Given the description of an element on the screen output the (x, y) to click on. 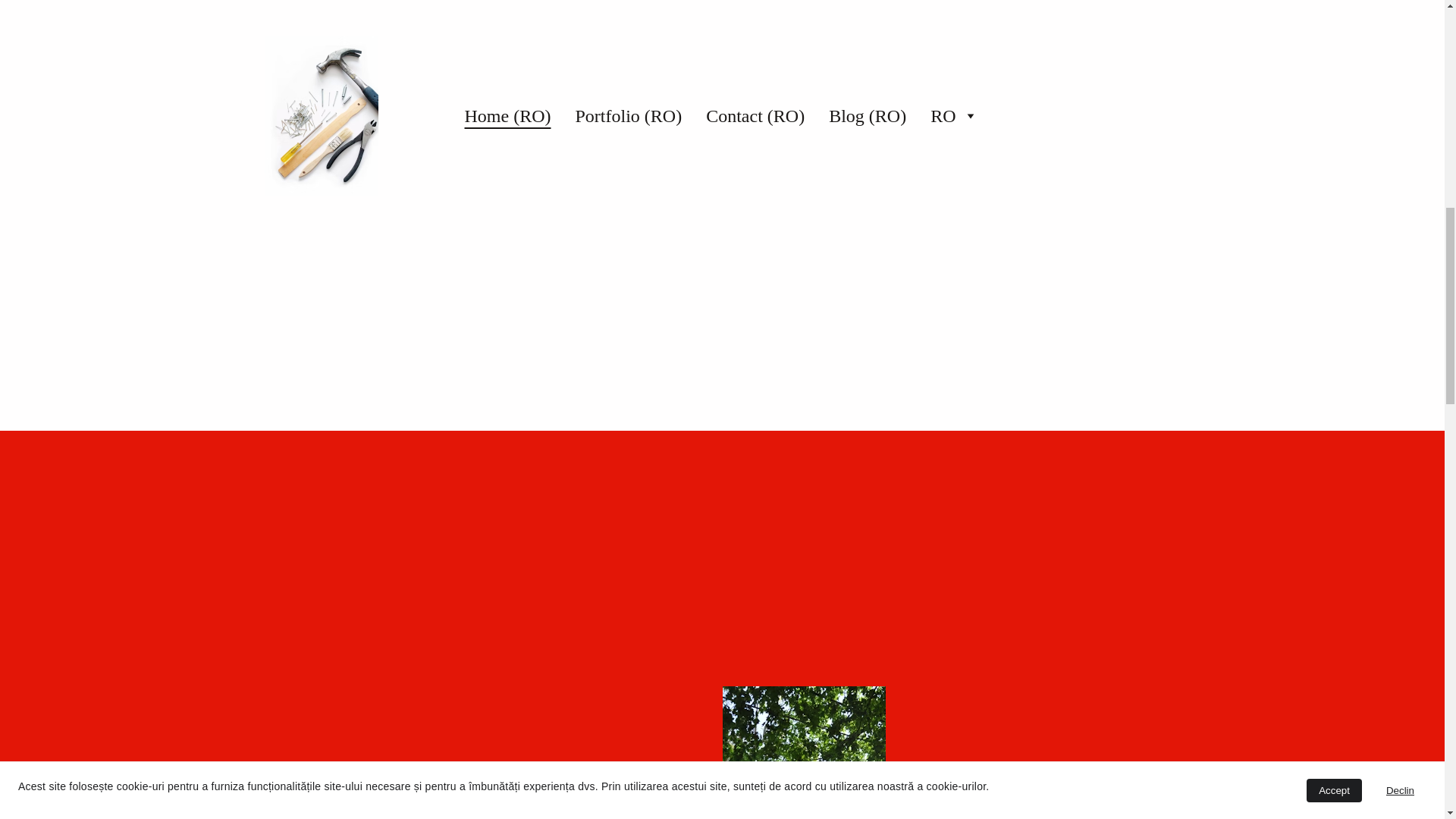
white and brown house near green tree during daytime (803, 752)
brown and green painted house (1004, 35)
